Given the description of an element on the screen output the (x, y) to click on. 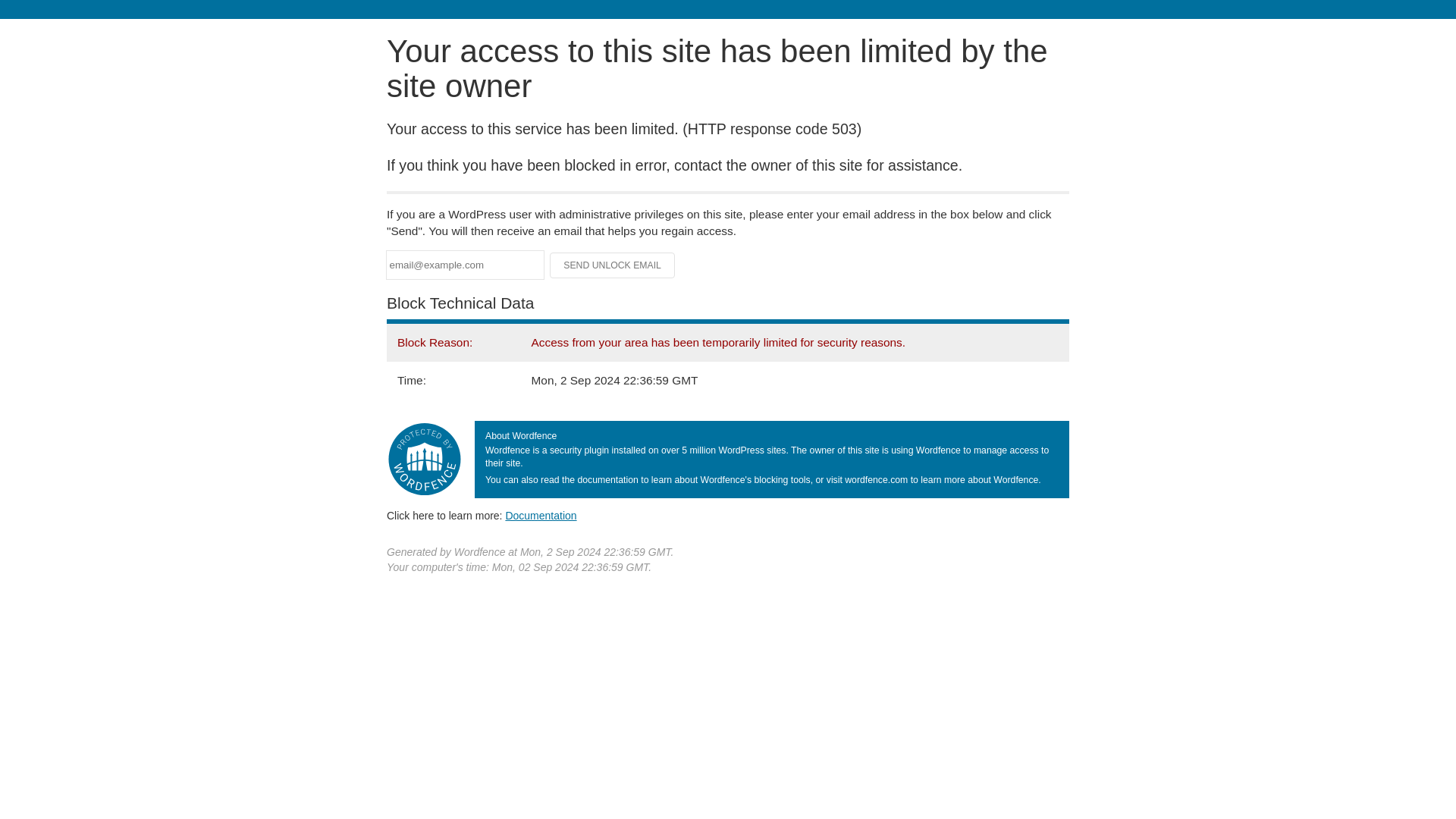
Documentation (540, 515)
Send Unlock Email (612, 265)
Send Unlock Email (612, 265)
